Given the description of an element on the screen output the (x, y) to click on. 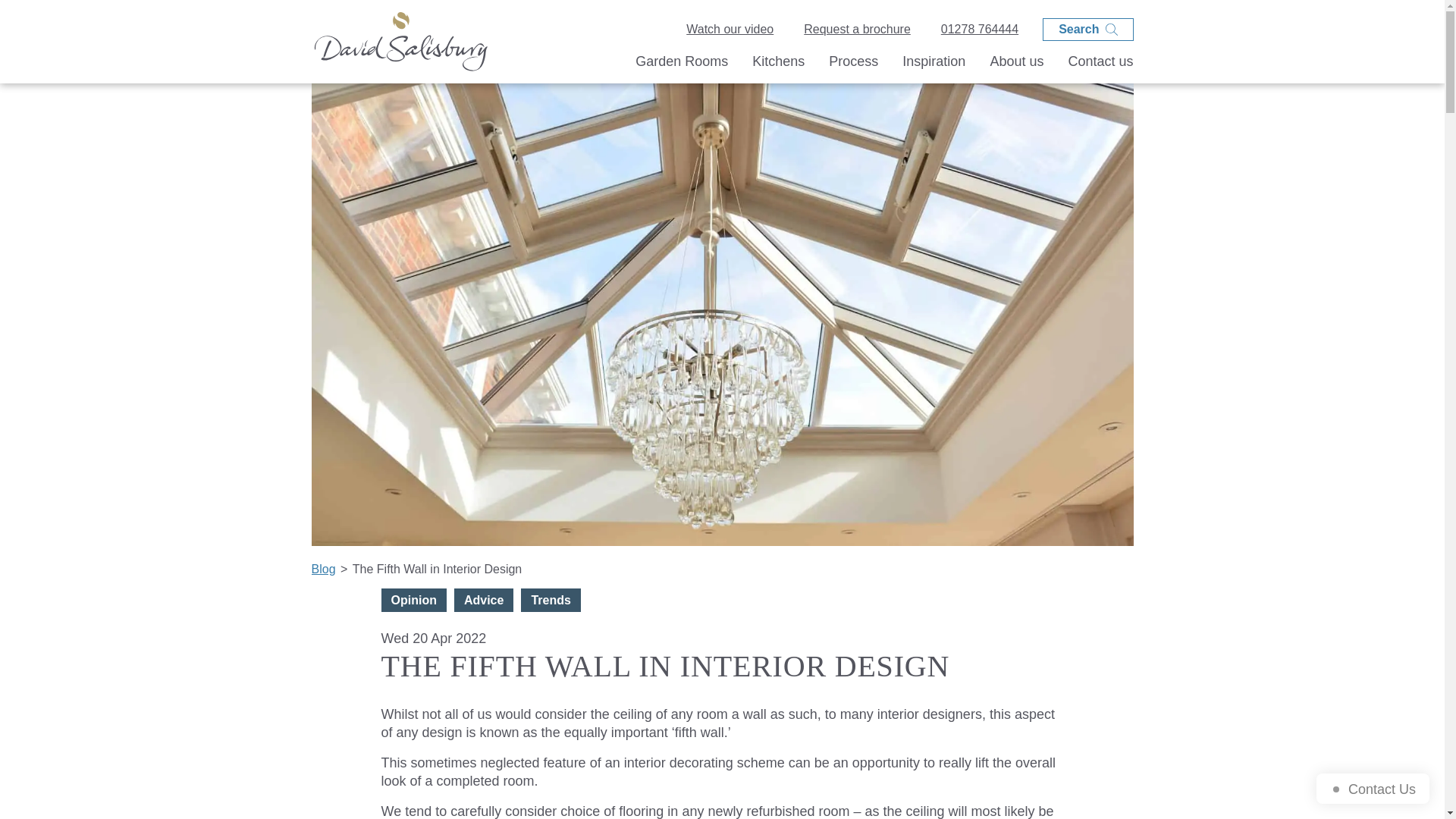
Watch our video (728, 29)
Search (1087, 29)
Opinion (412, 599)
Contact us (1099, 64)
Advice (483, 599)
Trends (550, 599)
Blog (322, 568)
01278 764444 (979, 29)
Process (852, 64)
Kitchens (777, 64)
Request a brochure (857, 29)
Inspiration (933, 64)
About us (1016, 64)
Garden Rooms (680, 64)
